Given the description of an element on the screen output the (x, y) to click on. 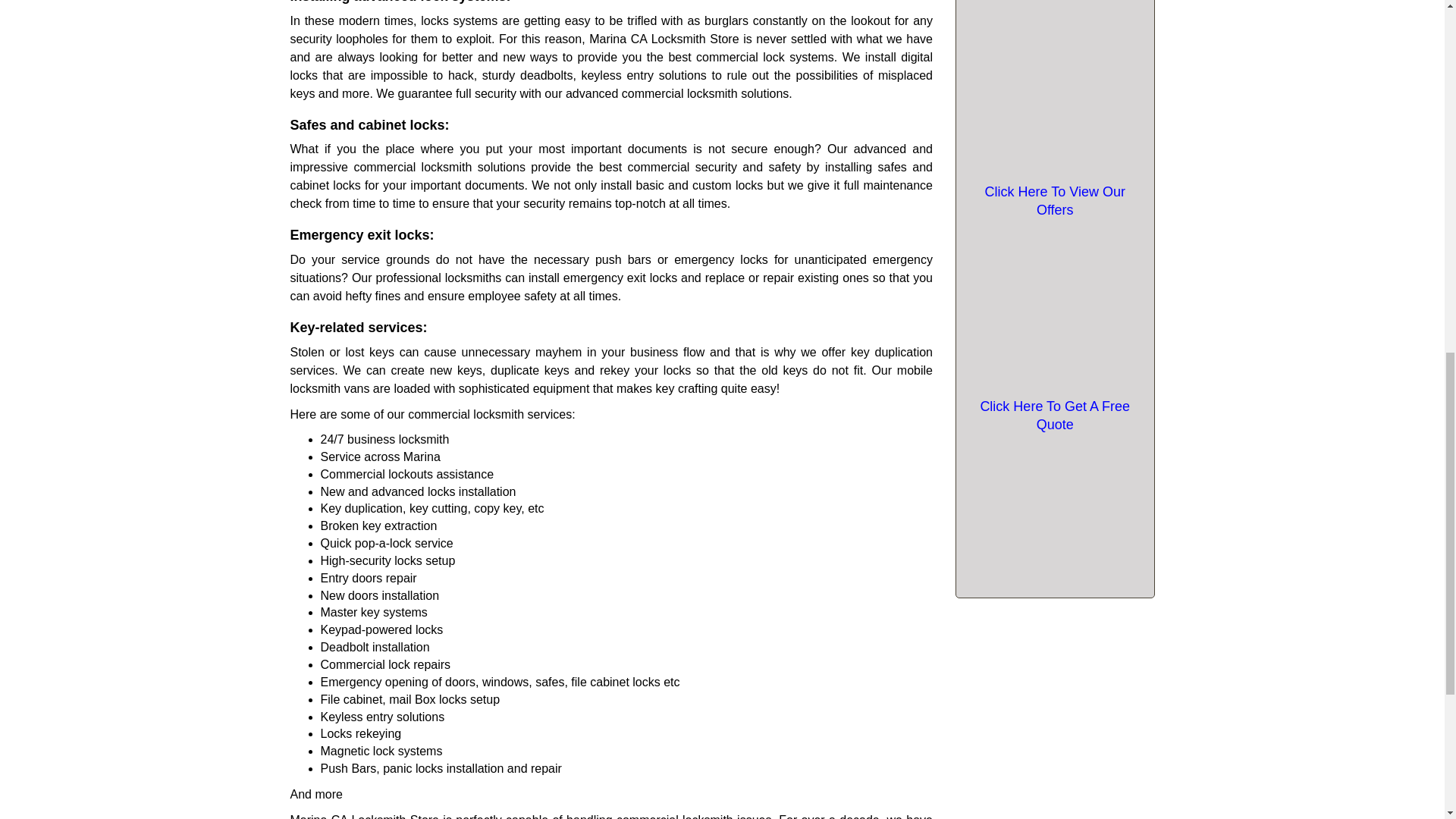
Emergency Locksmith Service (1054, 2)
Click Here To Get A Free Quote (1054, 415)
Click Here To View Our Offers (1054, 200)
